Given the description of an element on the screen output the (x, y) to click on. 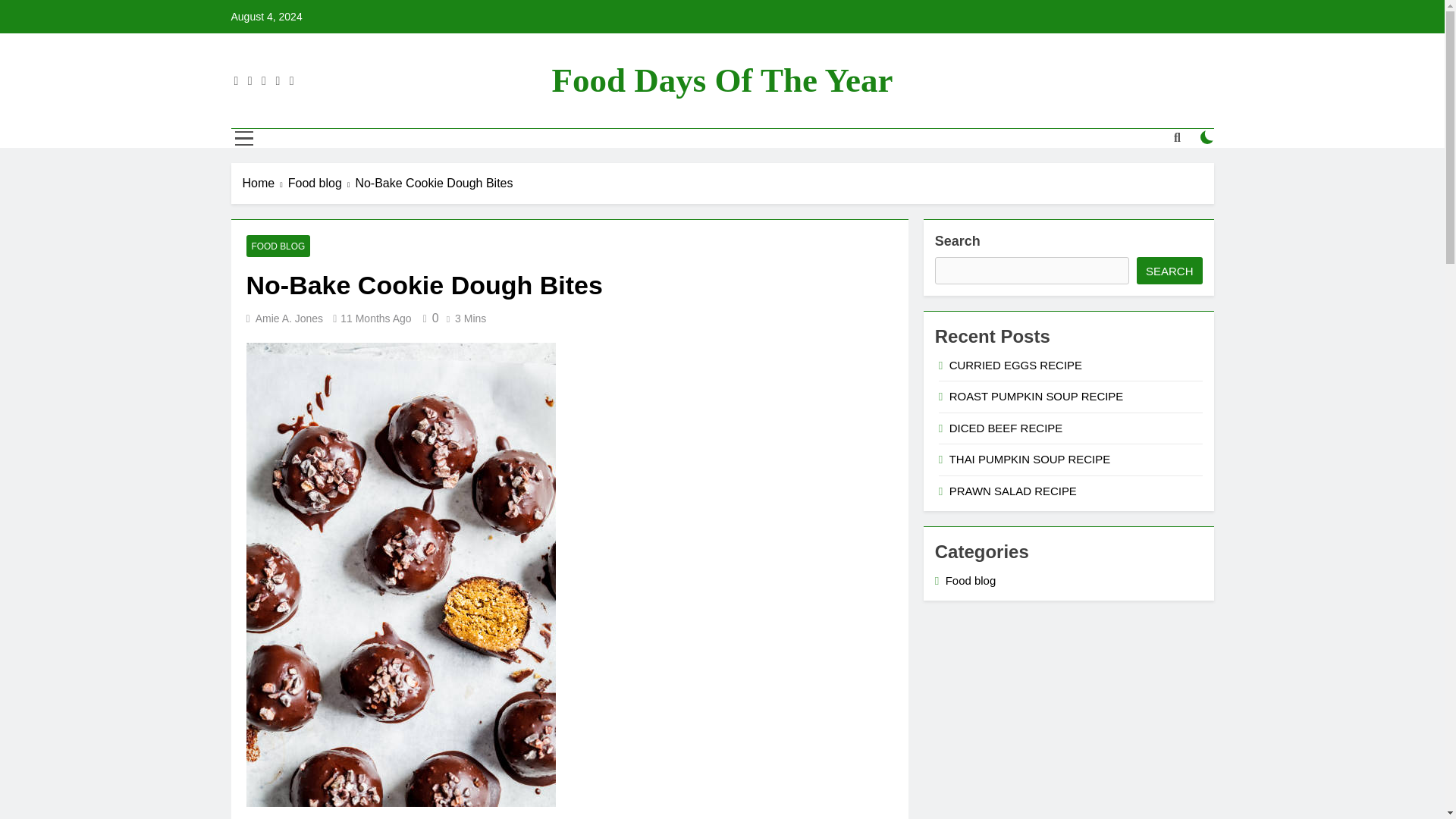
FOOD BLOG (278, 246)
on (1206, 137)
0 (428, 318)
Food Days Of The Year (722, 80)
11 Months Ago (375, 318)
Home (265, 183)
Amie A. Jones (289, 318)
Food blog (321, 183)
